Given the description of an element on the screen output the (x, y) to click on. 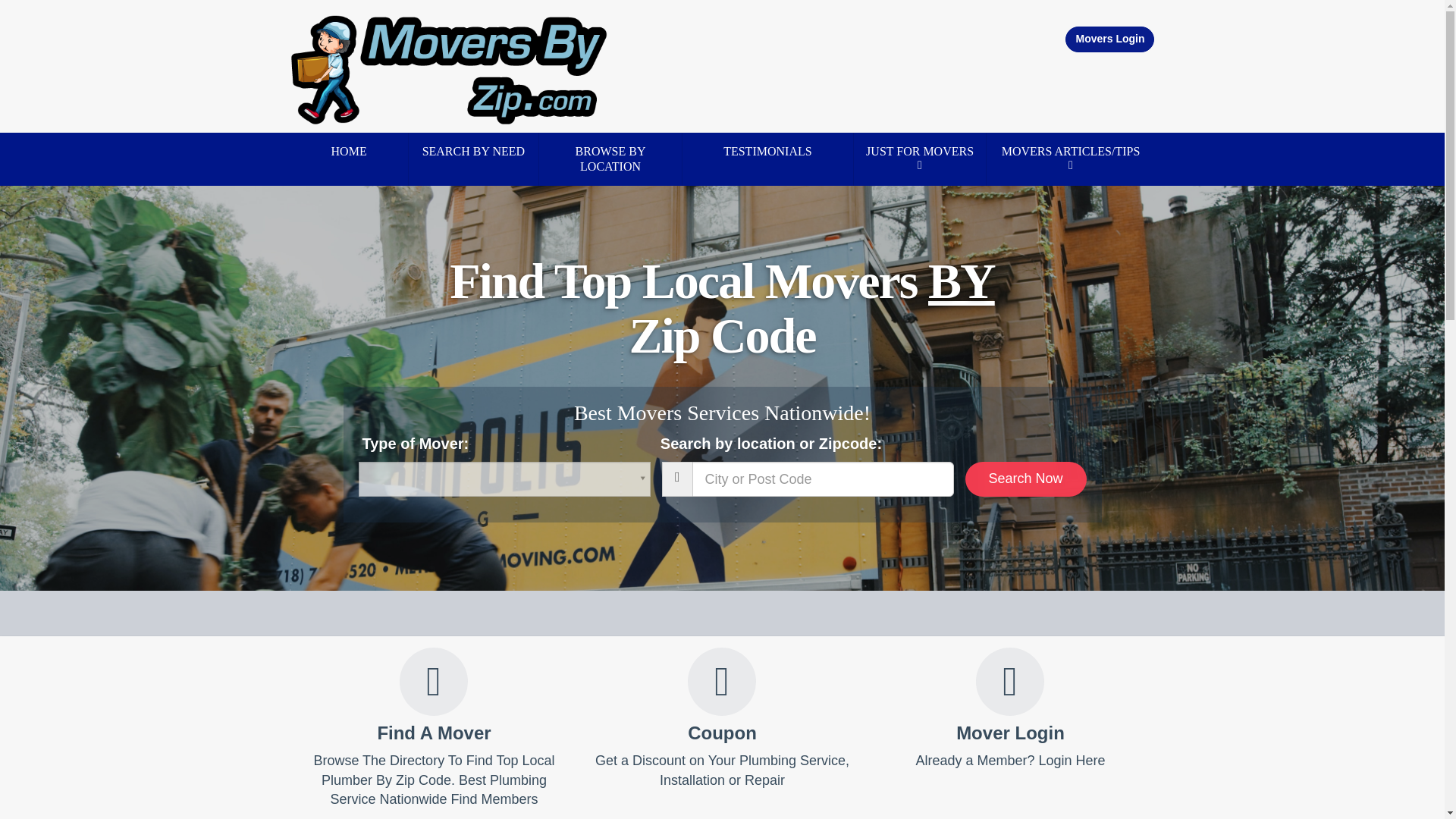
Movers By Zip (448, 69)
Movers Login (1109, 39)
HOME (348, 151)
TESTIMONIALS (767, 151)
BROWSE BY LOCATION (609, 158)
SEARCH BY NEED (473, 151)
